Given the description of an element on the screen output the (x, y) to click on. 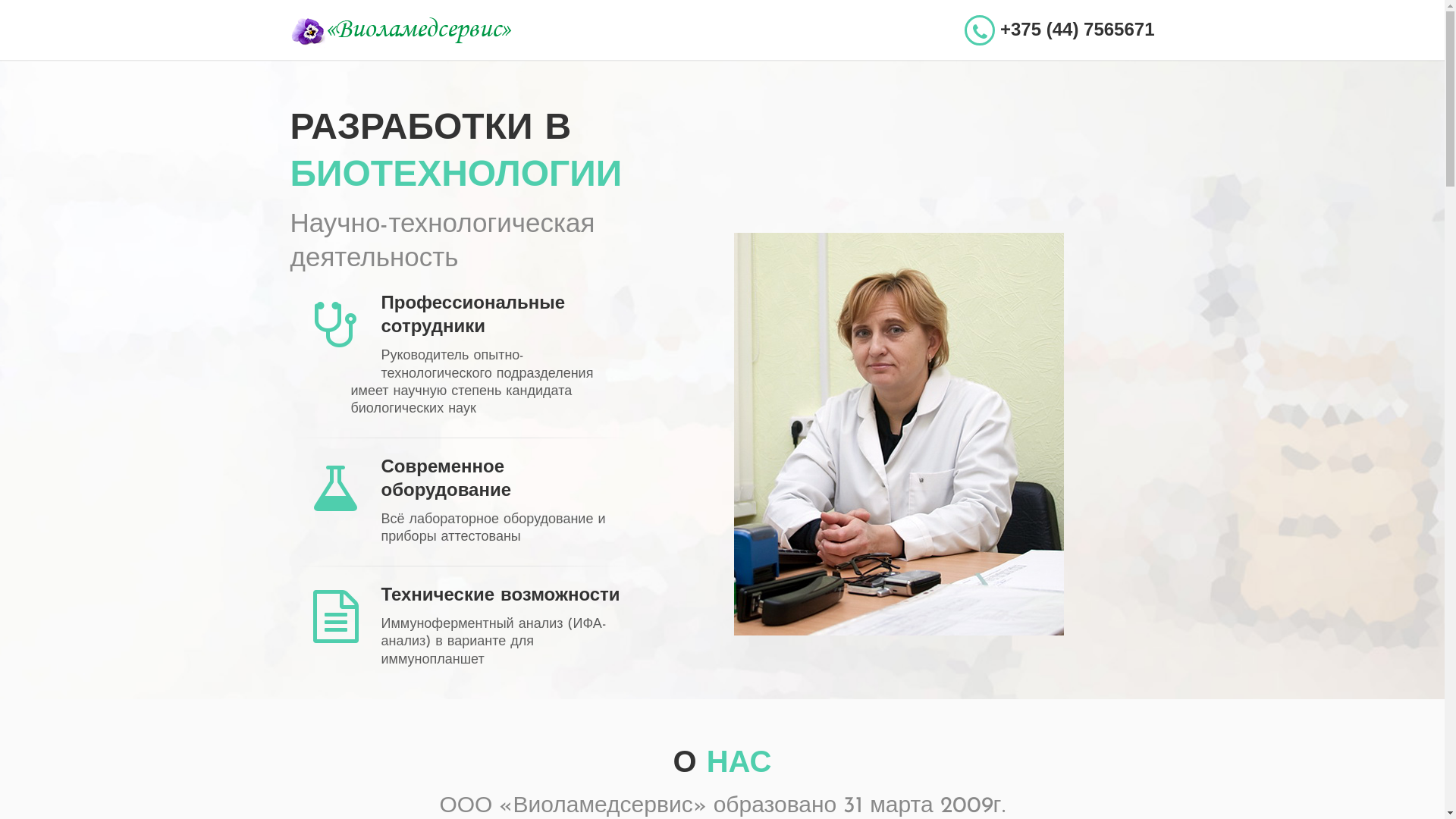
+375 (44) 7565671 Element type: text (1059, 29)
